Given the description of an element on the screen output the (x, y) to click on. 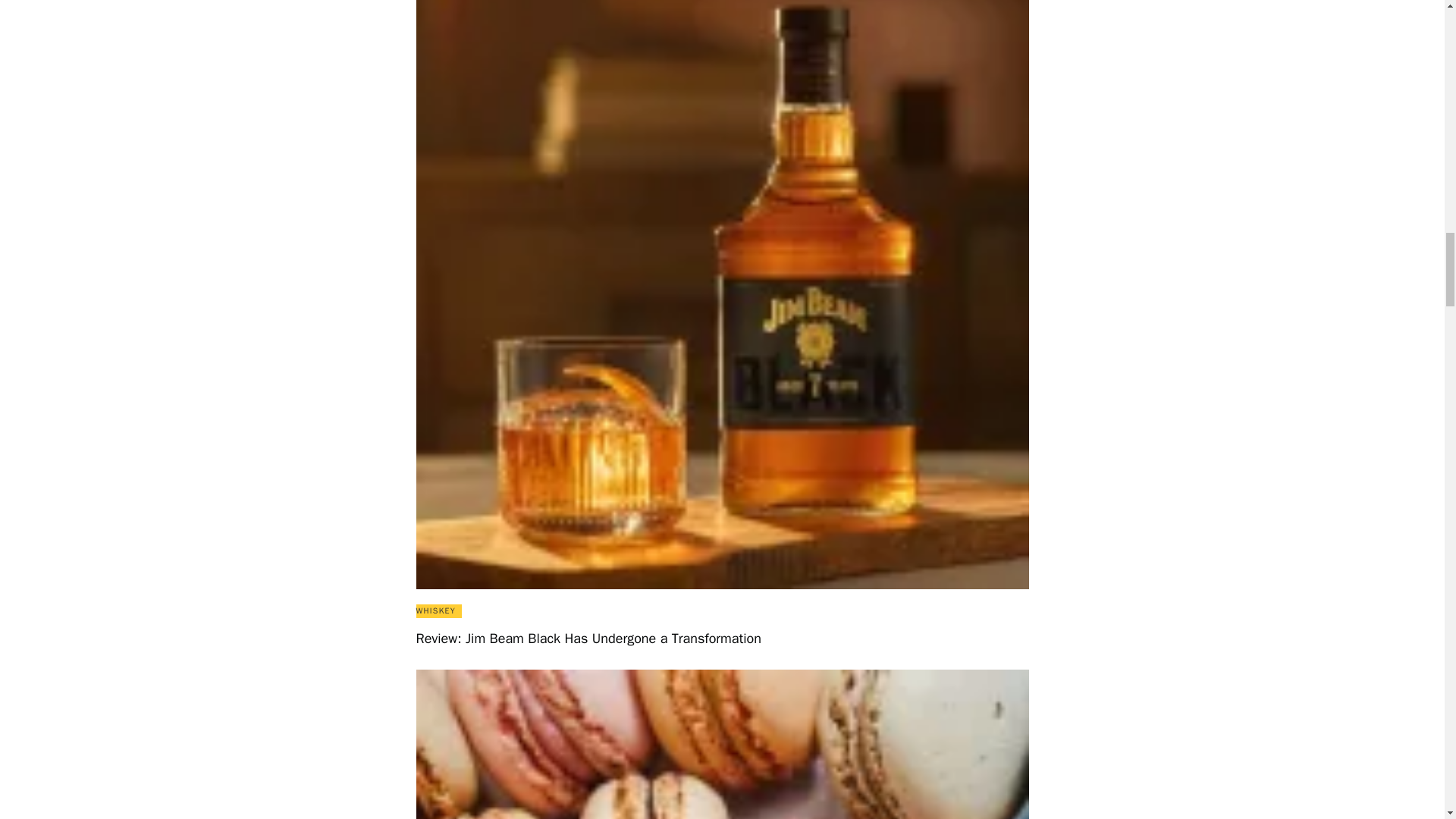
Review: Jim Beam Black Has Undergone a Transformation (720, 638)
WHISKEY (434, 610)
